Given the description of an element on the screen output the (x, y) to click on. 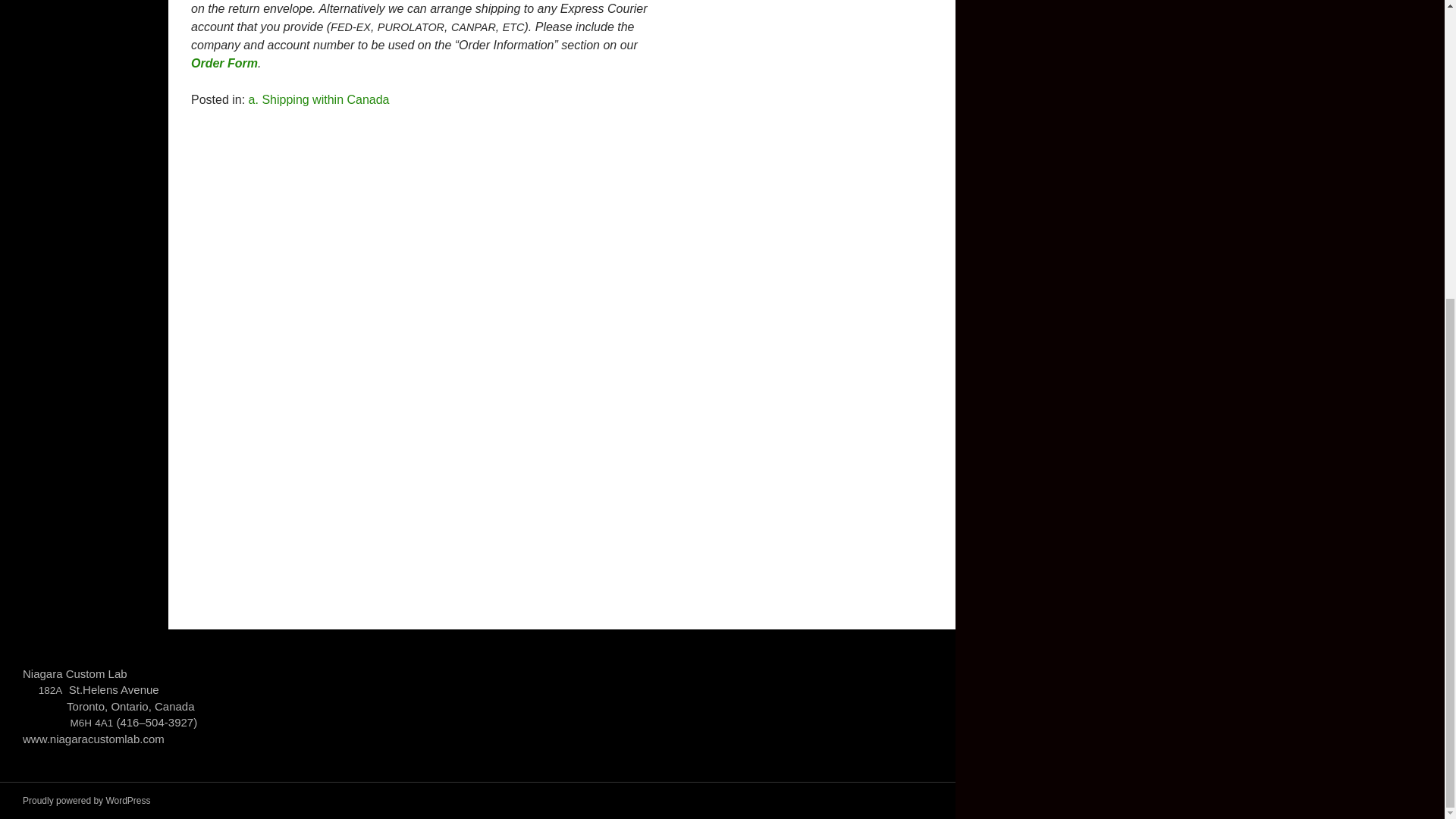
Proudly powered by WordPress (87, 800)
Order Form (223, 62)
